Given the description of an element on the screen output the (x, y) to click on. 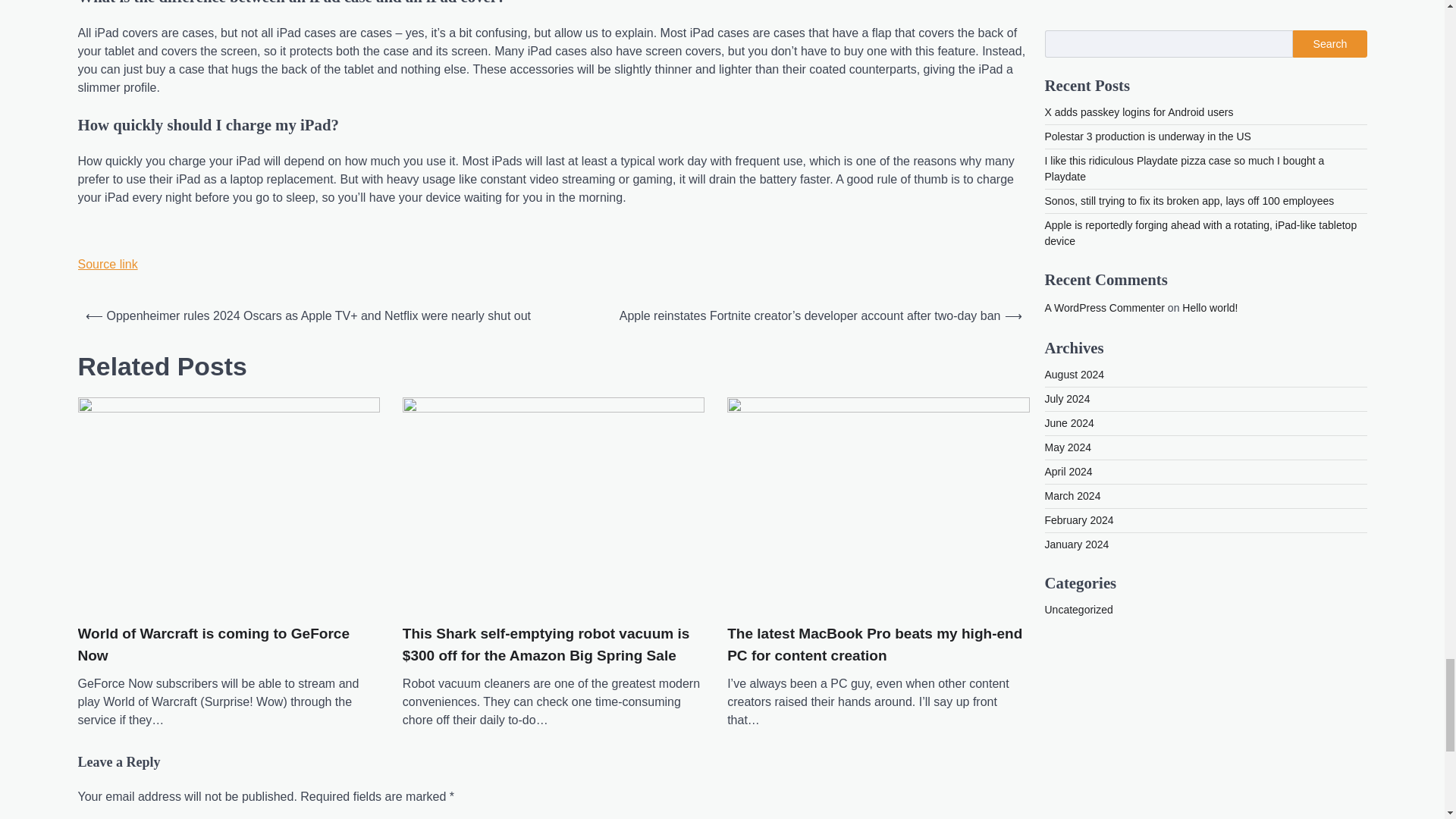
World of Warcraft is coming to GeForce Now (227, 644)
Source link (106, 264)
